Given the description of an element on the screen output the (x, y) to click on. 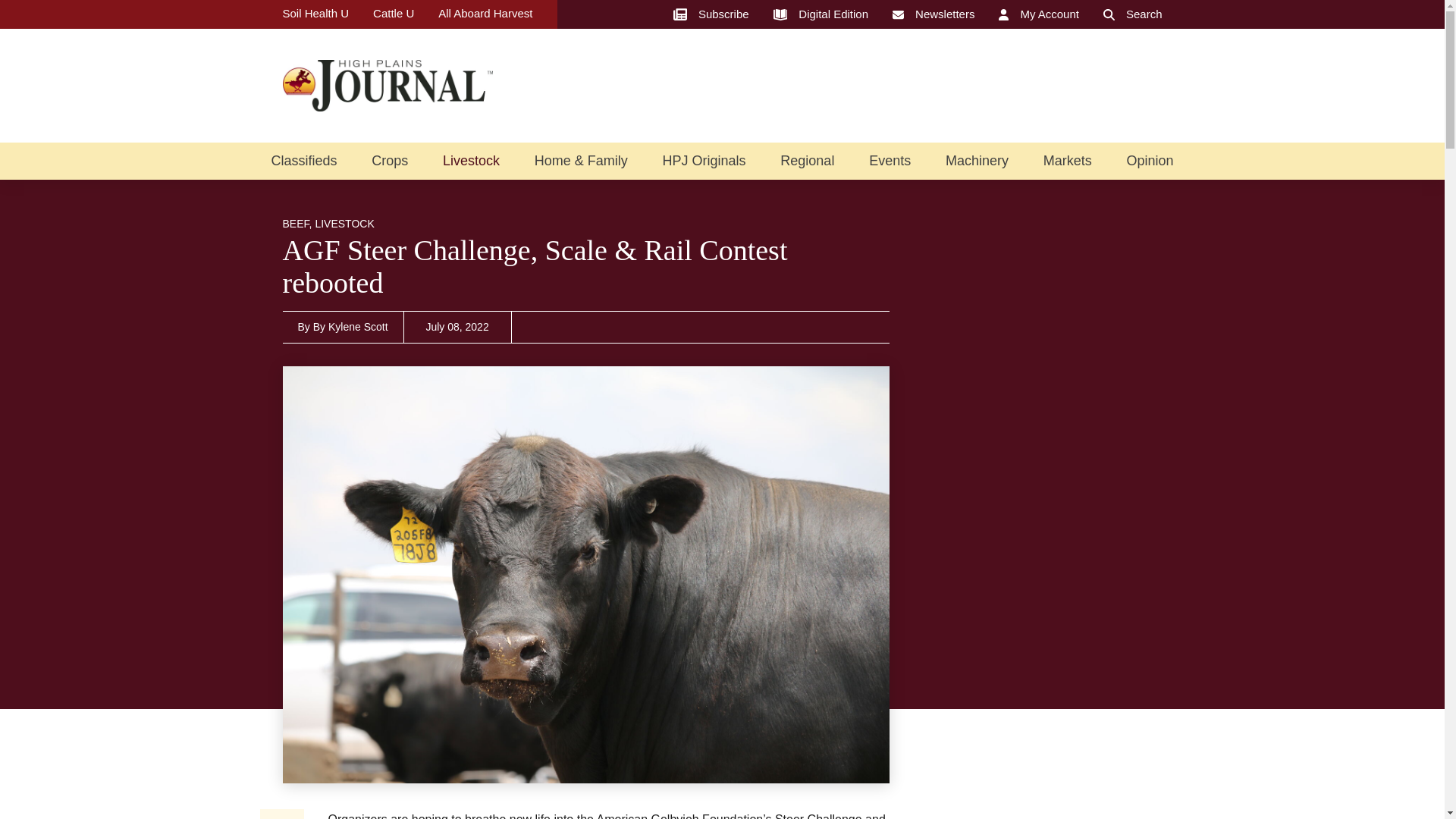
Soil Health U (315, 13)
Newsletters (933, 14)
Search (1132, 14)
Digital Edition (820, 14)
Subscribe (710, 14)
Classifieds (303, 160)
All Aboard Harvest (485, 13)
3rd party ad content (885, 85)
My Account (1038, 14)
Livestock (470, 160)
Crops (389, 160)
Cattle U (392, 13)
3rd party ad content (1047, 461)
3rd party ad content (1047, 696)
